Given the description of an element on the screen output the (x, y) to click on. 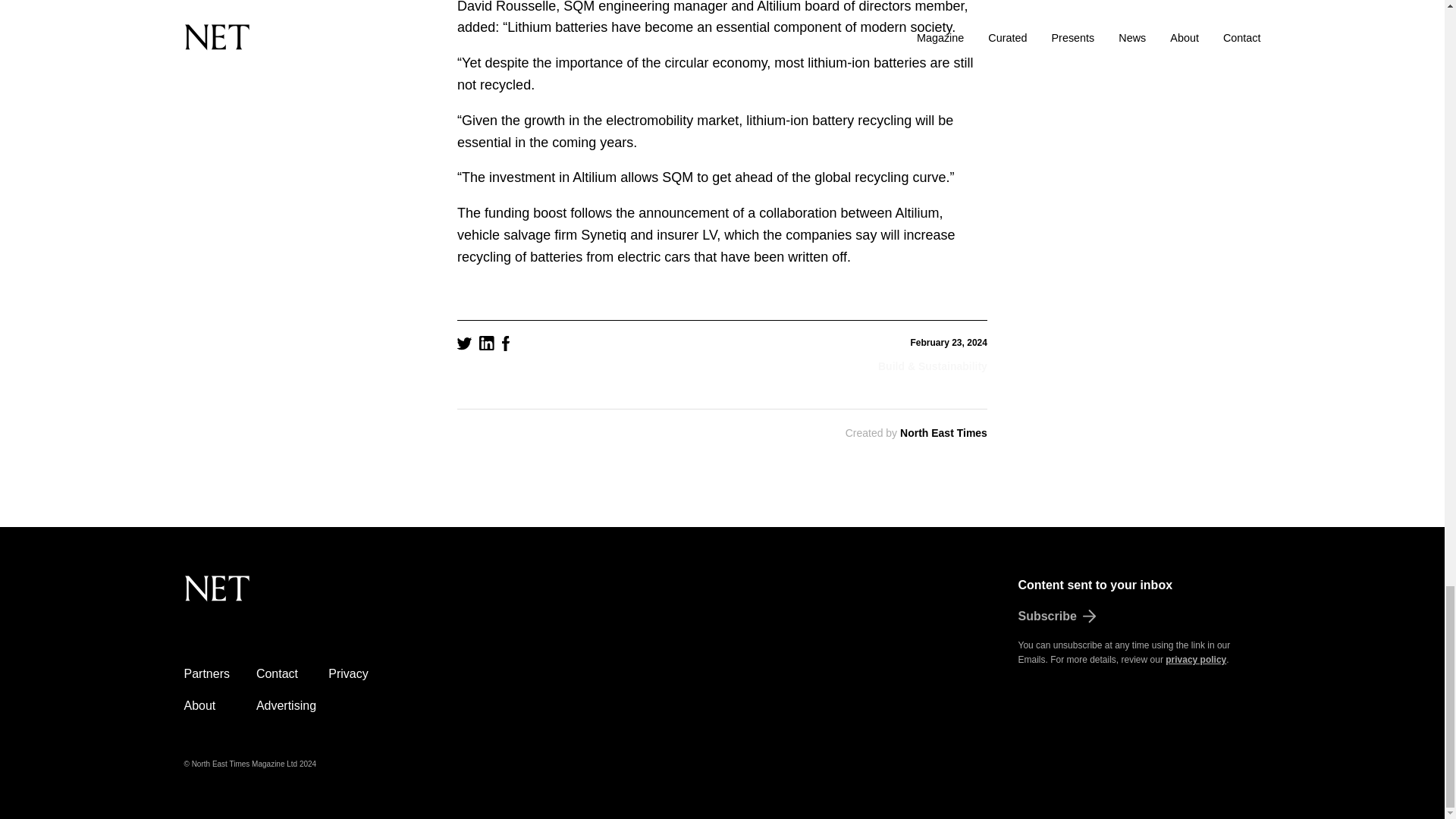
Advertising (285, 705)
Contact (277, 673)
Privacy (348, 673)
About (199, 705)
Read our full privacy notice (1195, 659)
Partners (205, 673)
Return to the top of this page (293, 596)
privacy policy (1195, 659)
Subscribe to the North East Times Magazine newsletter (1138, 616)
Subscribe (1138, 616)
